Given the description of an element on the screen output the (x, y) to click on. 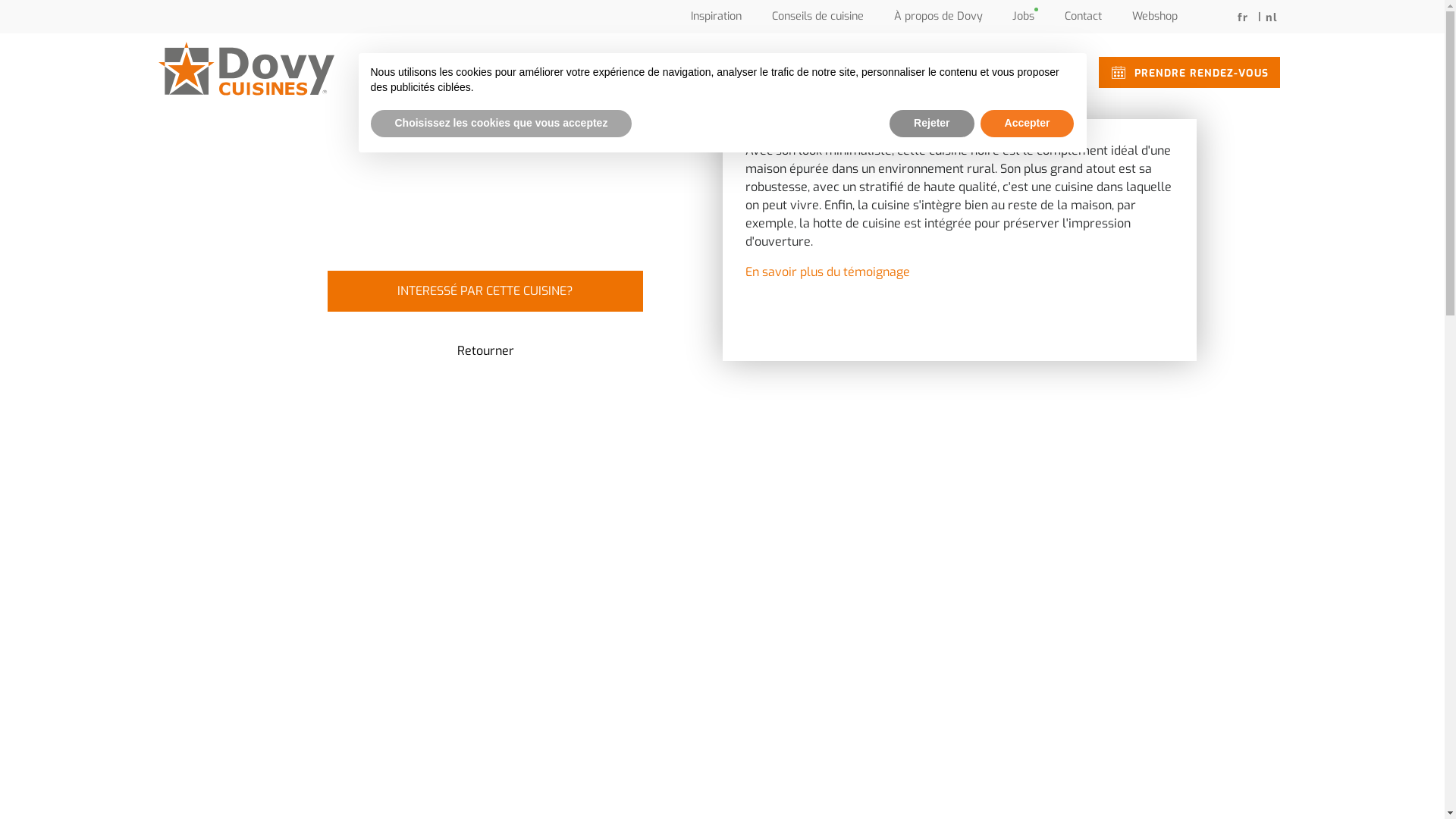
Accepter Element type: text (1027, 123)
fr Element type: text (1243, 18)
Jobs Element type: text (1023, 16)
NOS MAGASINS Element type: text (1027, 71)
Conseils de cuisine Element type: text (817, 16)
Webshop Element type: text (1153, 16)
Retourner Element type: text (484, 350)
Cuisines Dovy Element type: hover (246, 68)
Contact Element type: text (1082, 16)
Inspiration Element type: text (715, 16)
Choisissez les cookies que vous acceptez Element type: text (500, 123)
Rejeter Element type: text (931, 123)
CUISINES Element type: text (935, 71)
Prendre un rendez-vous en ligne Element type: hover (1117, 72)
nl Element type: text (1272, 18)
PRENDRE RENDEZ-VOUS Element type: text (1188, 71)
